Given the description of an element on the screen output the (x, y) to click on. 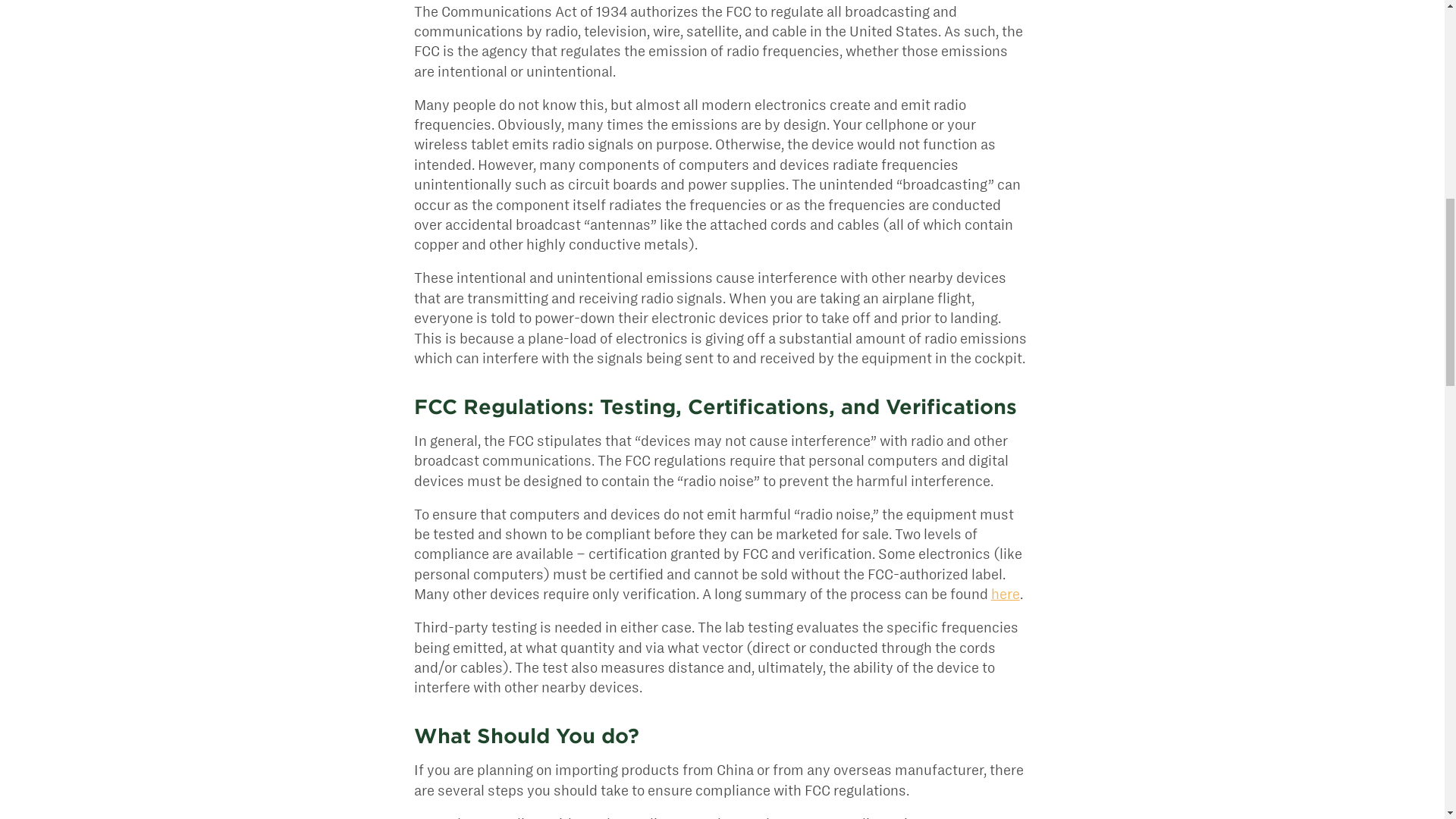
here (1005, 593)
